Given the description of an element on the screen output the (x, y) to click on. 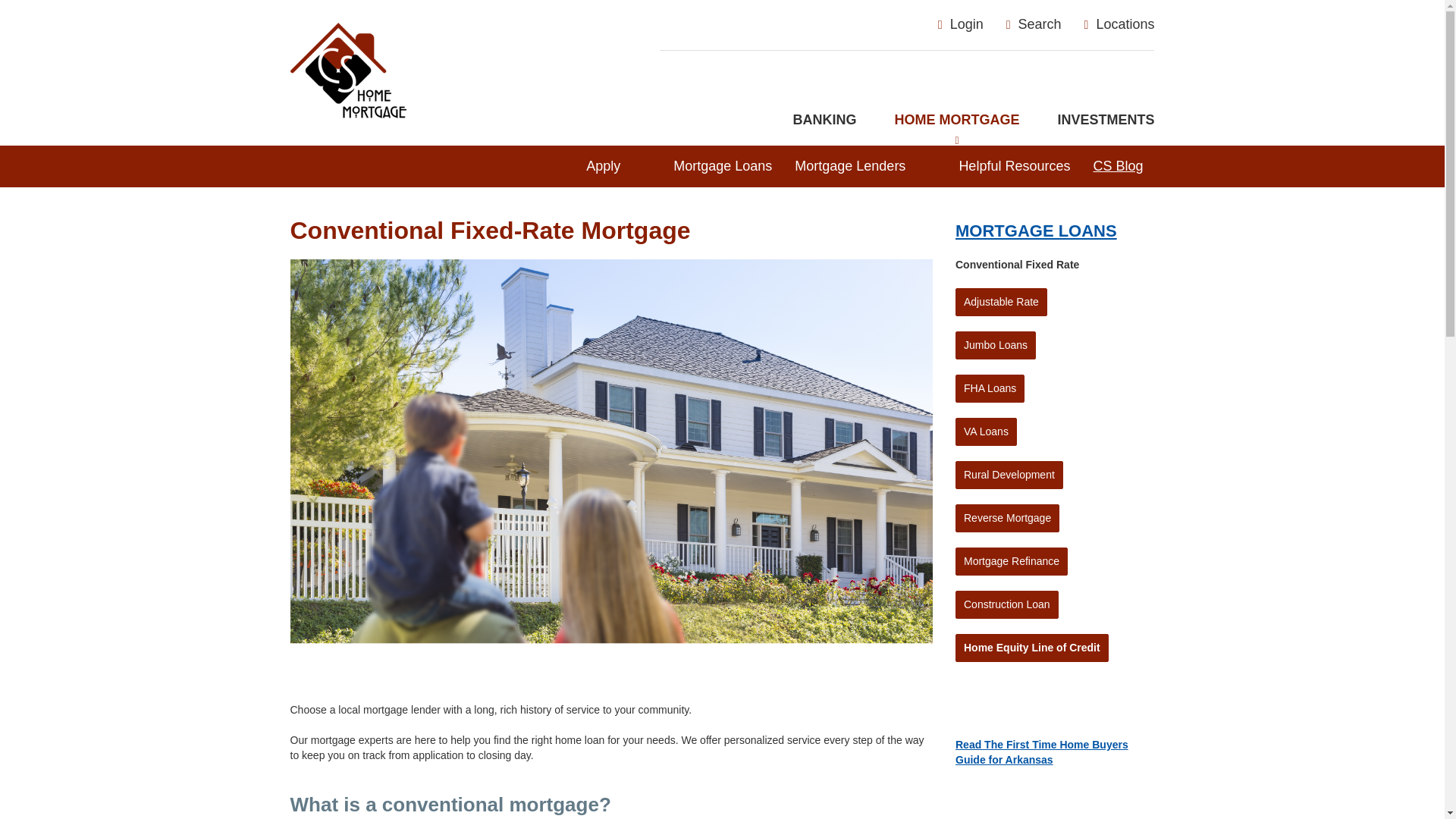
CS Bank, Eureka Springs, AR (463, 55)
BANKING (824, 119)
HOME MORTGAGE (1119, 23)
INVESTMENTS (956, 119)
Search (1105, 119)
Login (1033, 23)
